Given the description of an element on the screen output the (x, y) to click on. 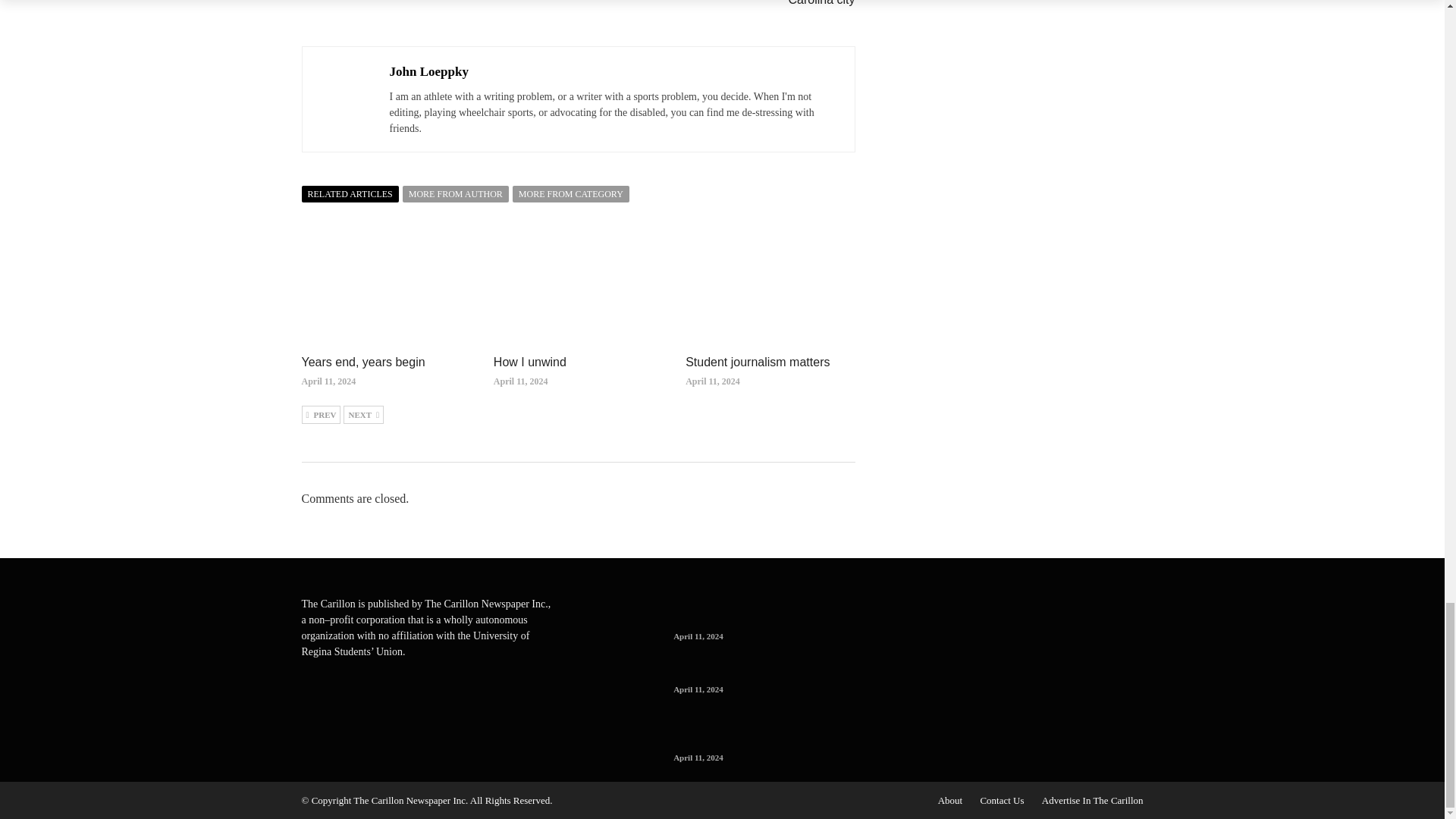
Next (363, 414)
Previous (320, 414)
